Given the description of an element on the screen output the (x, y) to click on. 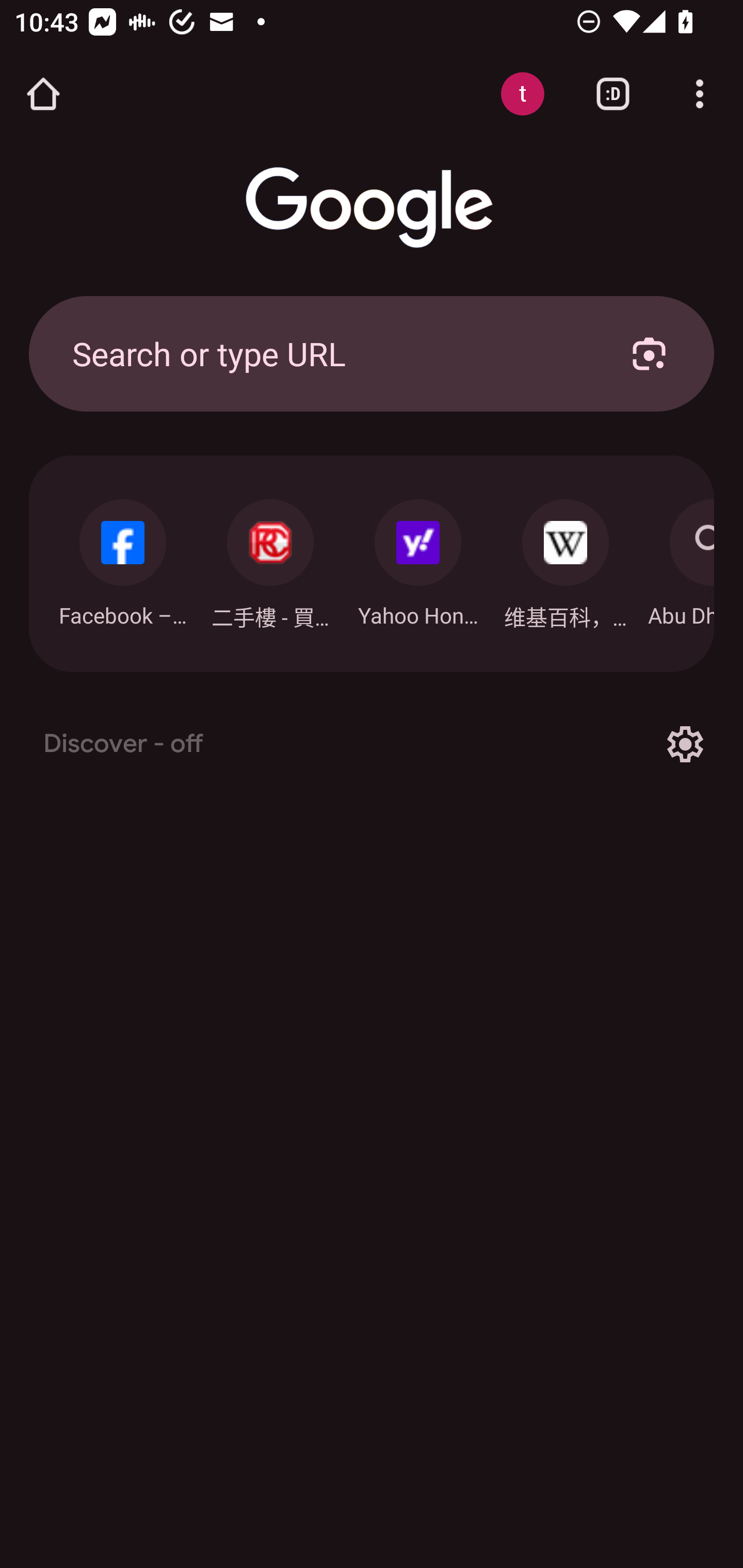
Open the home page (43, 93)
Switch or close tabs (612, 93)
Customize and control Google Chrome (699, 93)
Search or type URL (327, 353)
Search with your camera using Google Lens (648, 353)
Options for Discover (684, 743)
